Given the description of an element on the screen output the (x, y) to click on. 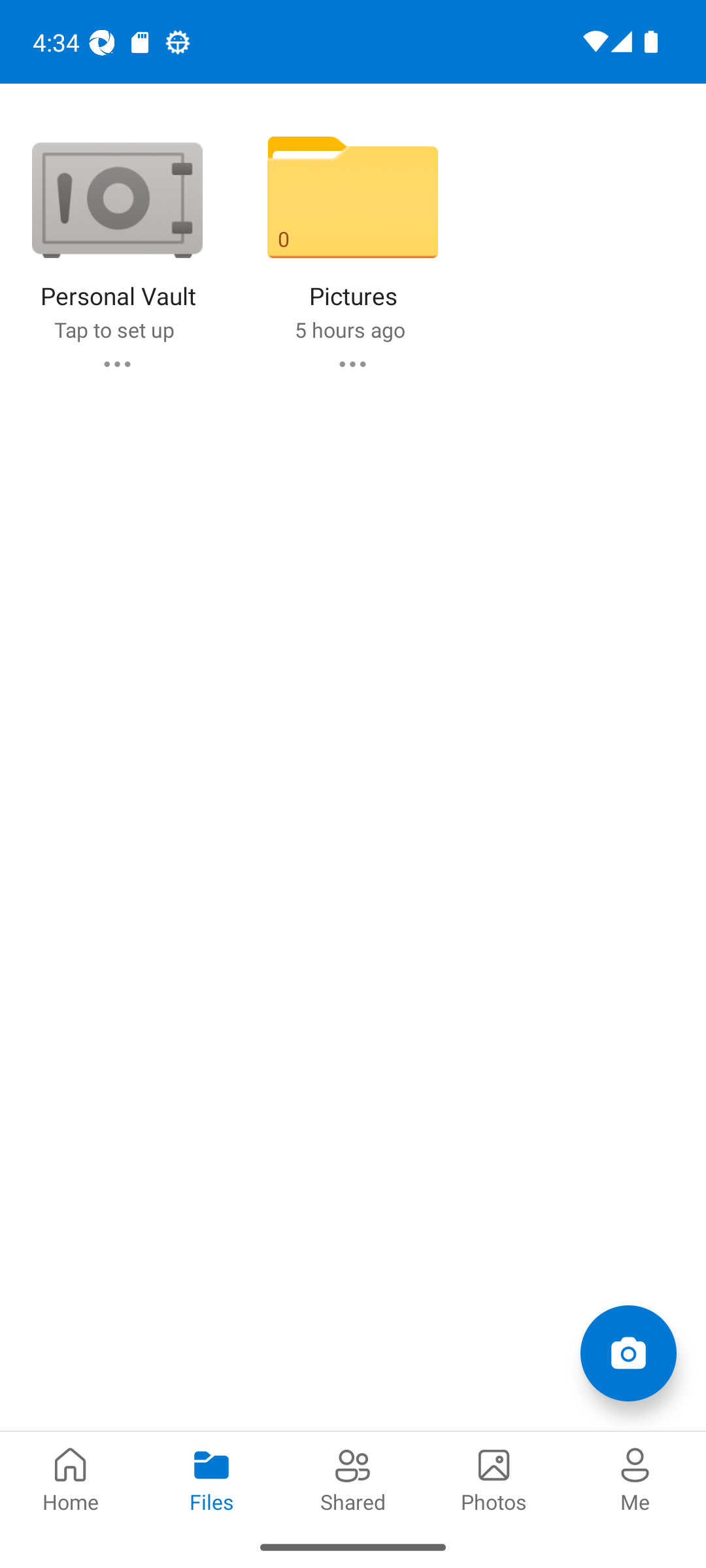
Tap to set up (113, 329)
5 hours ago (349, 329)
Personal Vault commands (116, 363)
Pictures commands (352, 363)
Add items Scan (628, 1352)
Home pivot Home (70, 1478)
Shared pivot Shared (352, 1478)
Photos pivot Photos (493, 1478)
Me pivot Me (635, 1478)
